Given the description of an element on the screen output the (x, y) to click on. 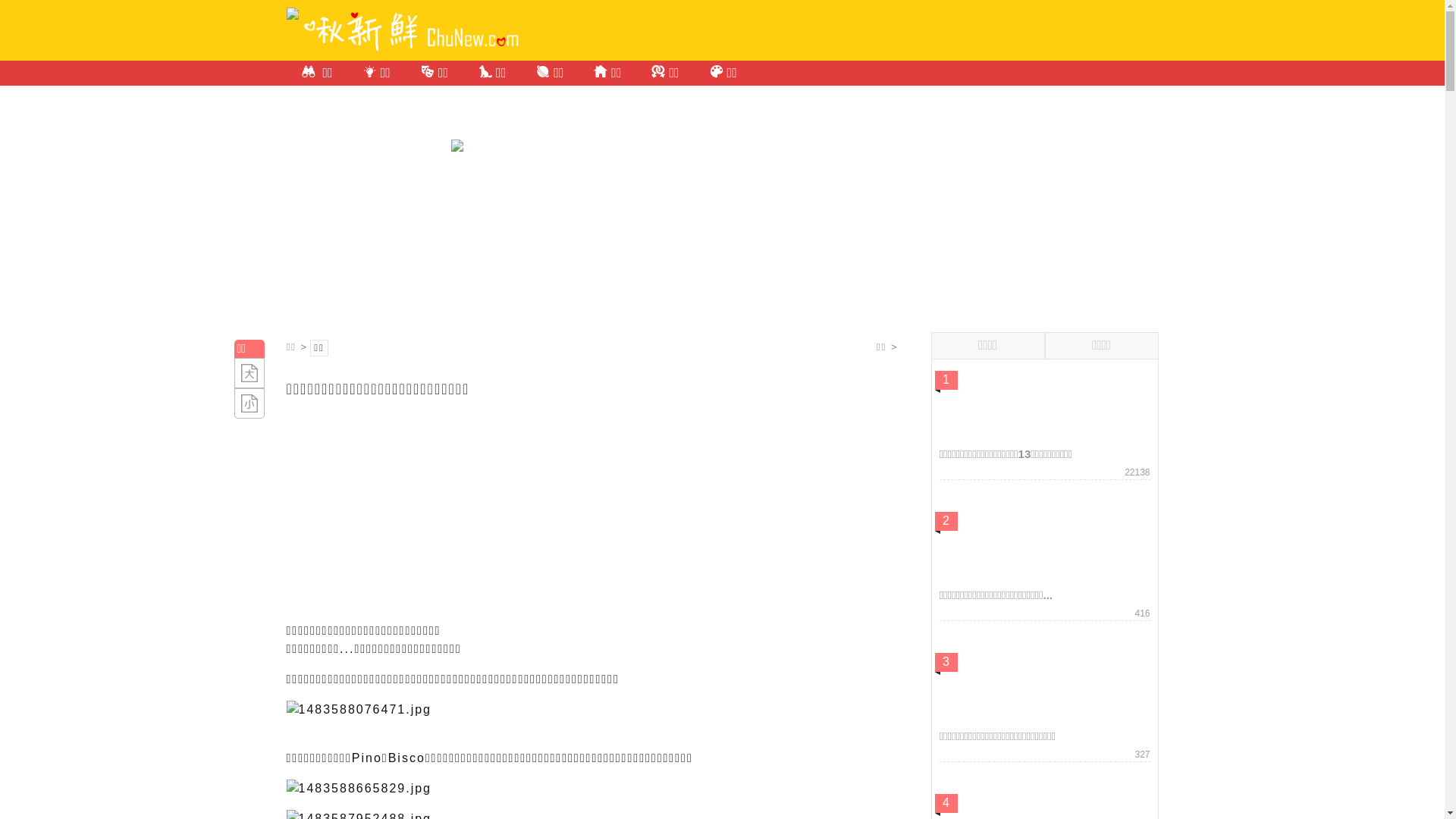
-A Element type: text (248, 403)
+A Element type: text (248, 372)
